Given the description of an element on the screen output the (x, y) to click on. 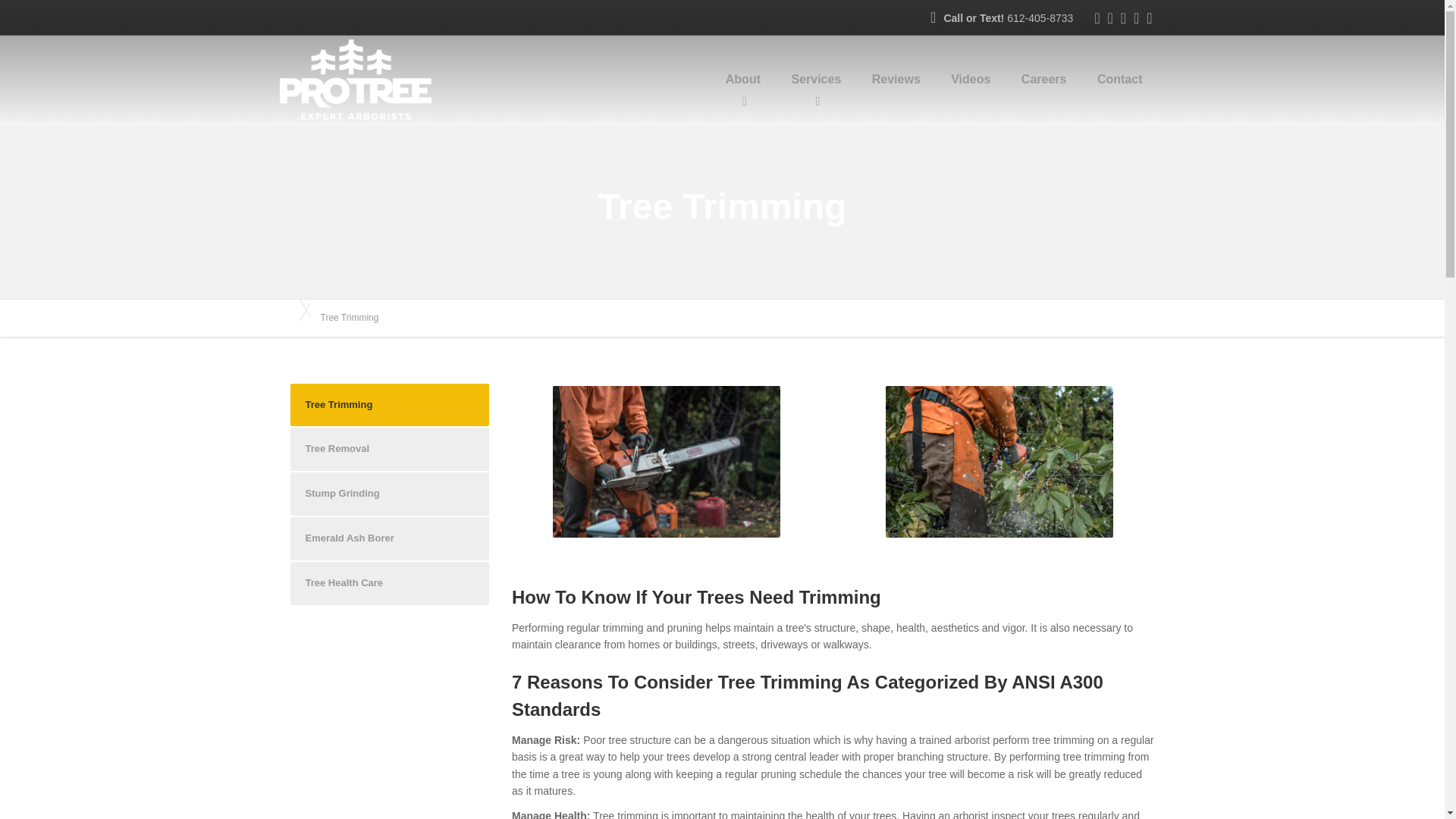
Tree Trimming (389, 405)
Call or Text! 612-405-8733 (1007, 17)
Tree Health Care (389, 583)
Tree Removal (389, 448)
Emerald Ash Borer (389, 538)
Stump Grinding (389, 493)
Services (816, 79)
Reviews (896, 79)
